Given the description of an element on the screen output the (x, y) to click on. 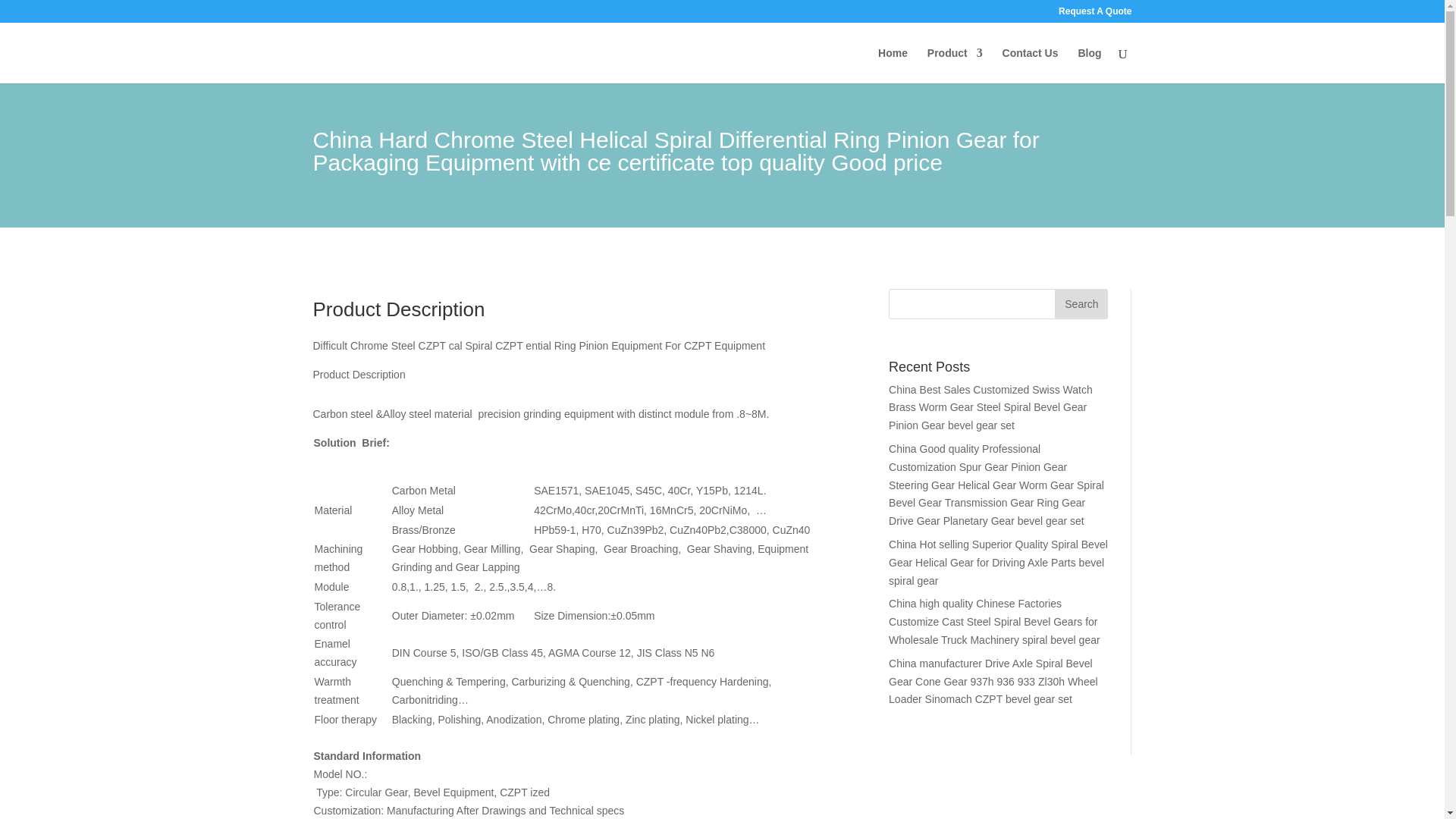
Contact Us (1030, 65)
Request A Quote (1094, 14)
Product (954, 65)
Search (1081, 304)
Search (1081, 304)
